Given the description of an element on the screen output the (x, y) to click on. 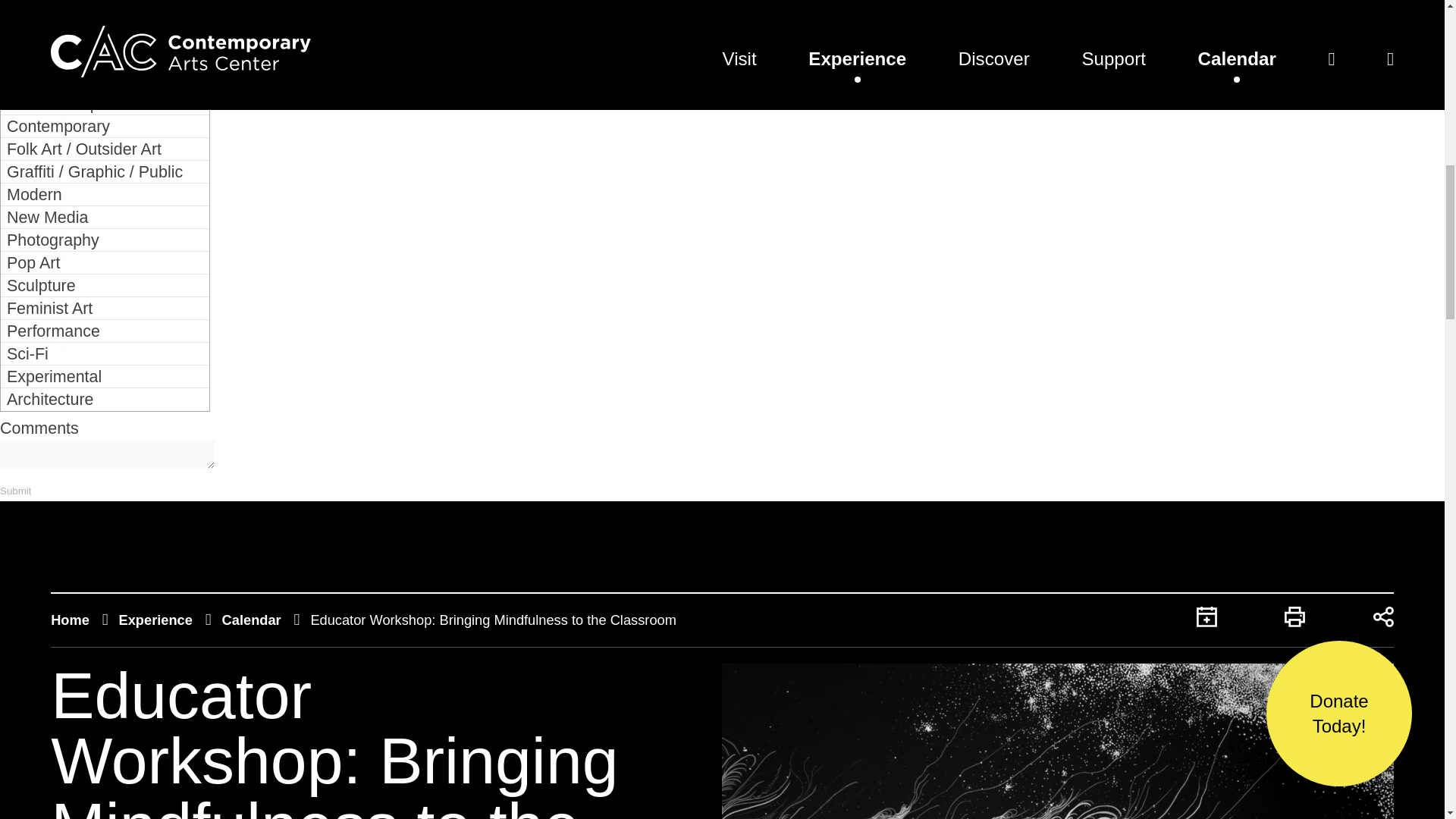
Calendar (251, 619)
19523 (81, 2)
Feminist Art (105, 308)
19525 (81, 99)
Architecture (105, 399)
Experience (155, 619)
Performance (105, 331)
Adult Programs (105, 50)
954370 (81, 22)
Abstract Expressionism (105, 103)
Modern (105, 194)
19527 (81, 144)
Pop Art (105, 262)
Submit (15, 490)
New Media (105, 217)
